Given the description of an element on the screen output the (x, y) to click on. 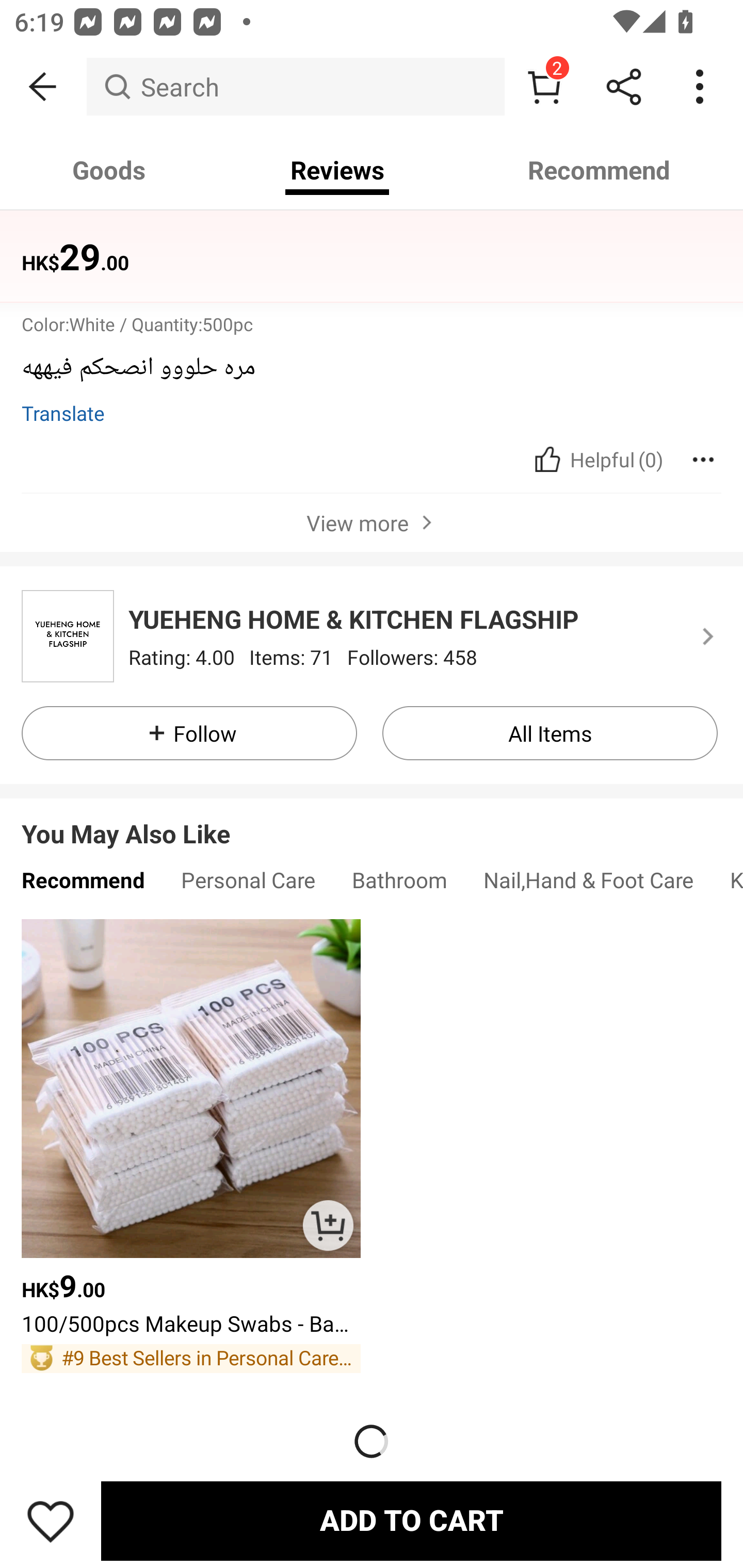
BACK (43, 86)
2 (543, 87)
Search (295, 87)
Goods (109, 170)
Reviews (337, 170)
Recommend (599, 170)
مره حلووو انصحكم فيههه (363, 375)
Translate (62, 412)
Cancel Helpful Was this article helpful? (0) (596, 459)
View more (371, 521)
Follow (189, 732)
All Items (549, 732)
You May Also Like (371, 819)
Recommend (82, 884)
Personal Care (247, 884)
Bathroom (399, 884)
Nail,Hand & Foot Care (588, 884)
ADD TO CART (327, 1225)
ADD TO CART (411, 1520)
Save (50, 1520)
